Given the description of an element on the screen output the (x, y) to click on. 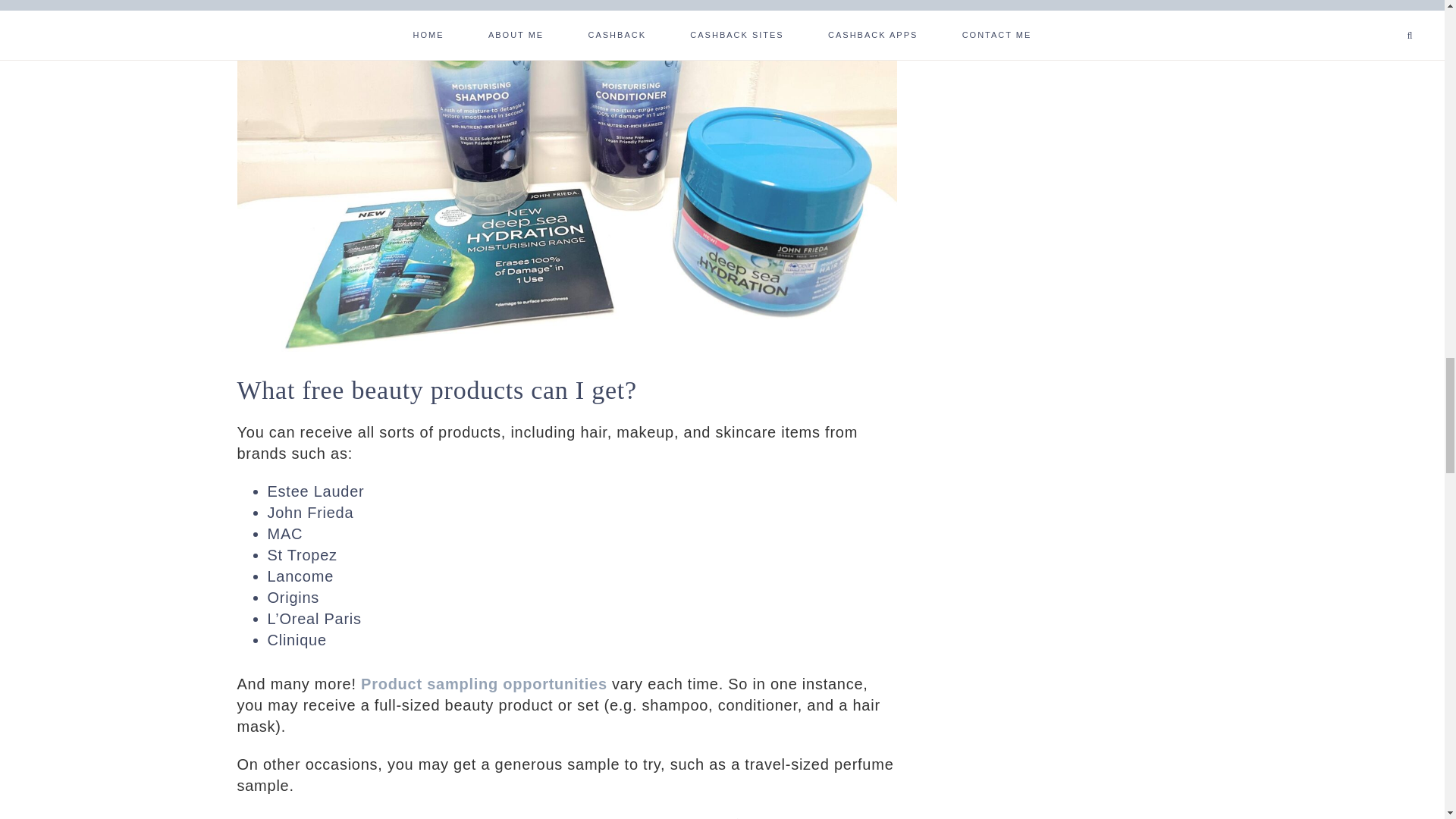
Product sampling opportunities (484, 683)
